Given the description of an element on the screen output the (x, y) to click on. 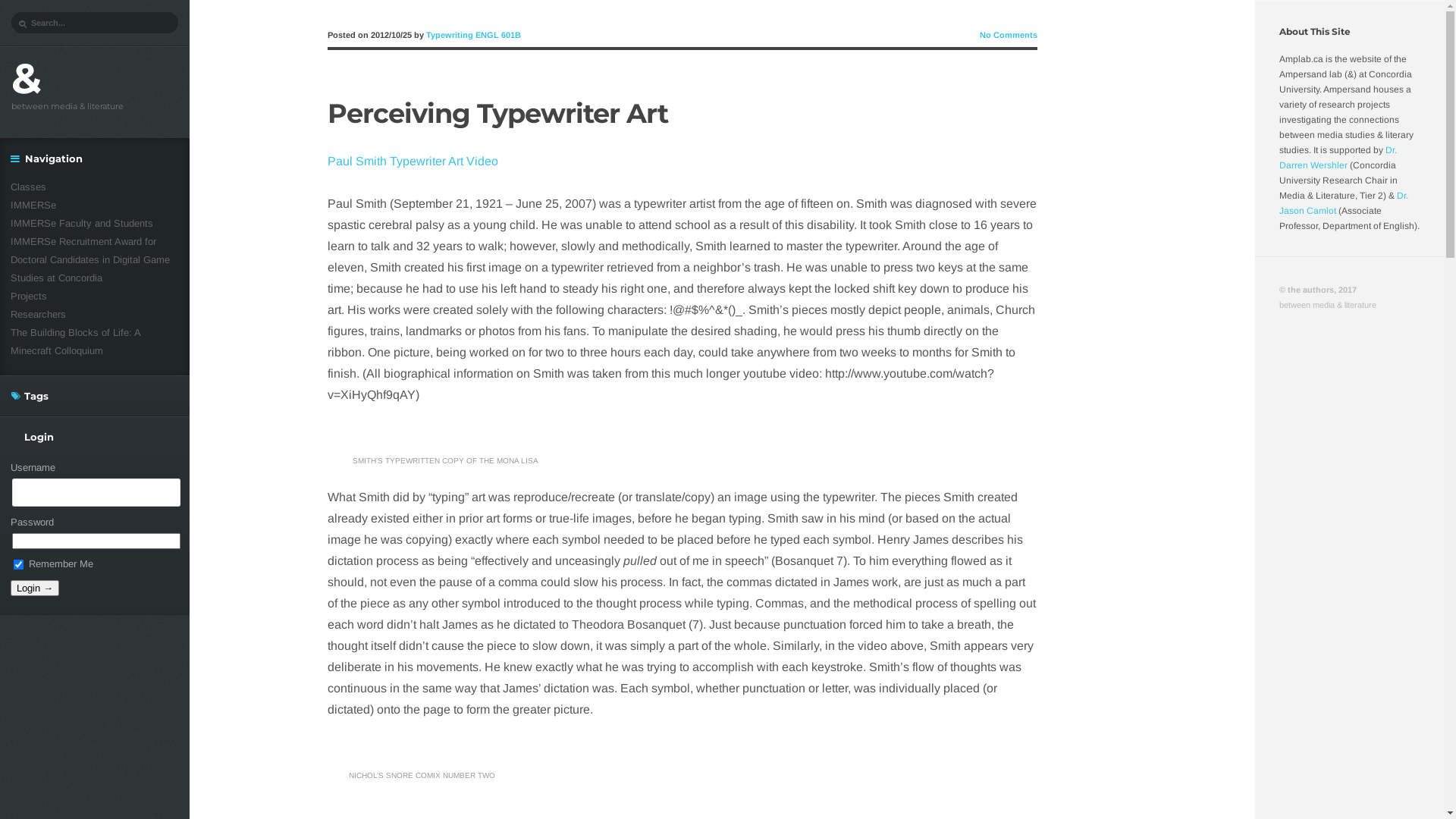
& Element type: text (26, 78)
Perceiving Typewriter Art Element type: text (497, 113)
Researchers Element type: text (37, 314)
Paul Smith Typewriter Art Video Element type: text (412, 160)
IMMERSe Element type: text (33, 204)
Classes Element type: text (28, 186)
No Comments Element type: text (1008, 34)
The Building Blocks of Life: A Minecraft Colloquium Element type: text (75, 341)
Dr. Darren Wershler Element type: text (1337, 157)
IMMERSe Faculty and Students Element type: text (81, 223)
Projects Element type: text (28, 295)
Typewriting ENGL 601B Element type: text (473, 34)
Dr. Jason Camlot Element type: text (1343, 203)
Search Element type: text (21, 10)
